Given the description of an element on the screen output the (x, y) to click on. 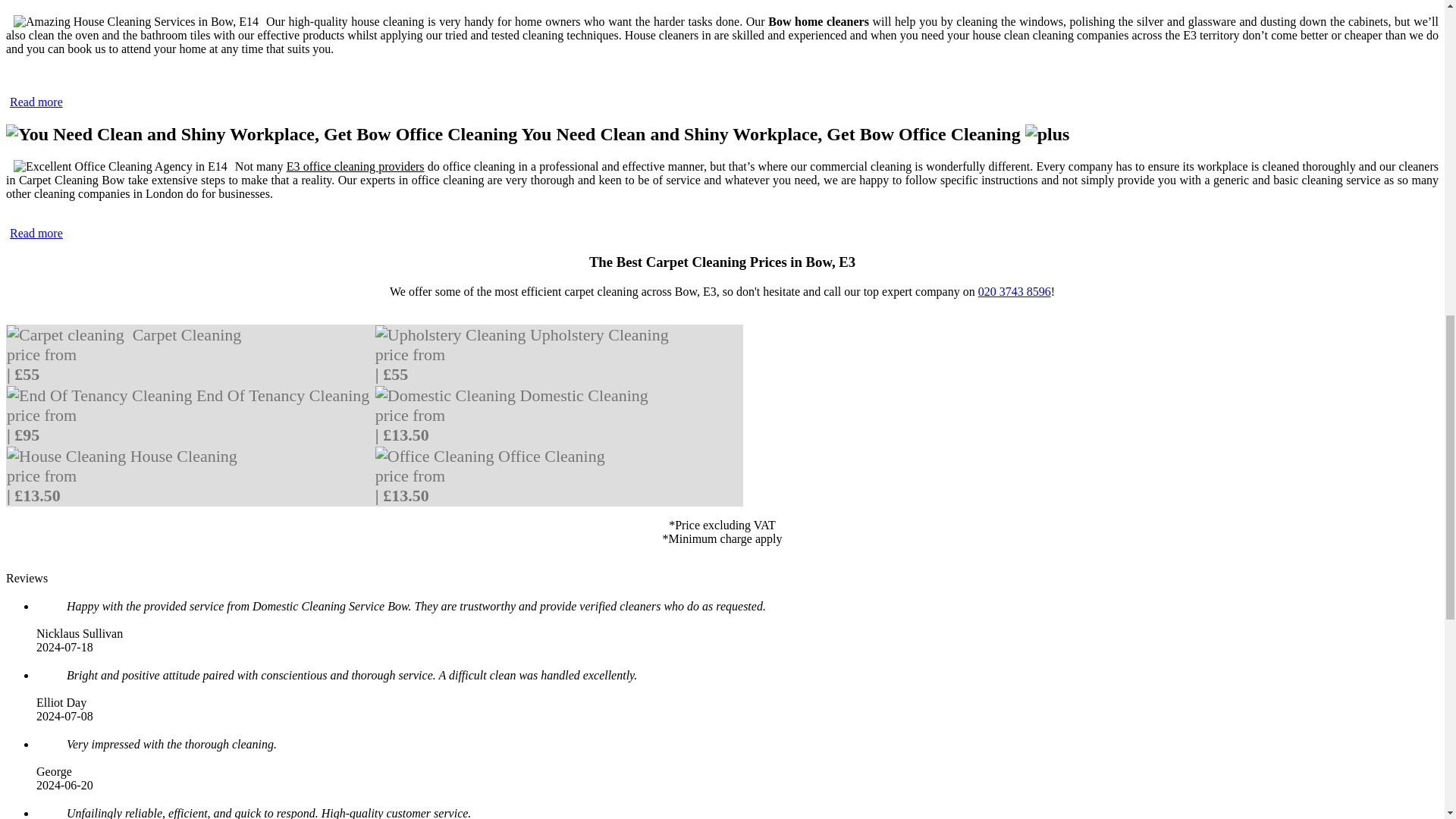
020 3743 8596 (1014, 291)
Read more (35, 101)
Read more (35, 232)
Call free 020 3743 8596 (1014, 291)
